Given the description of an element on the screen output the (x, y) to click on. 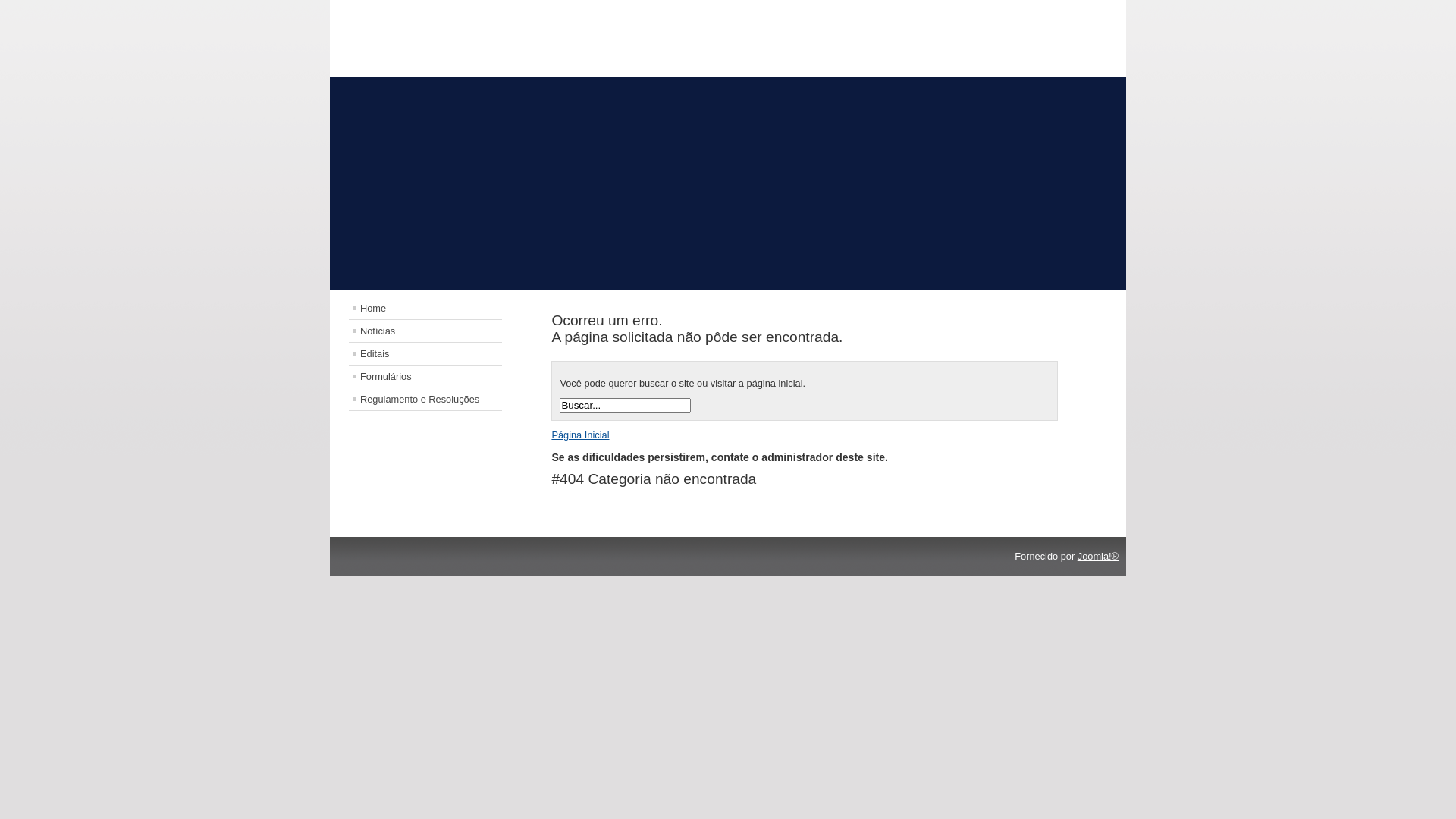
Home Element type: text (425, 308)
Editais Element type: text (425, 353)
